Given the description of an element on the screen output the (x, y) to click on. 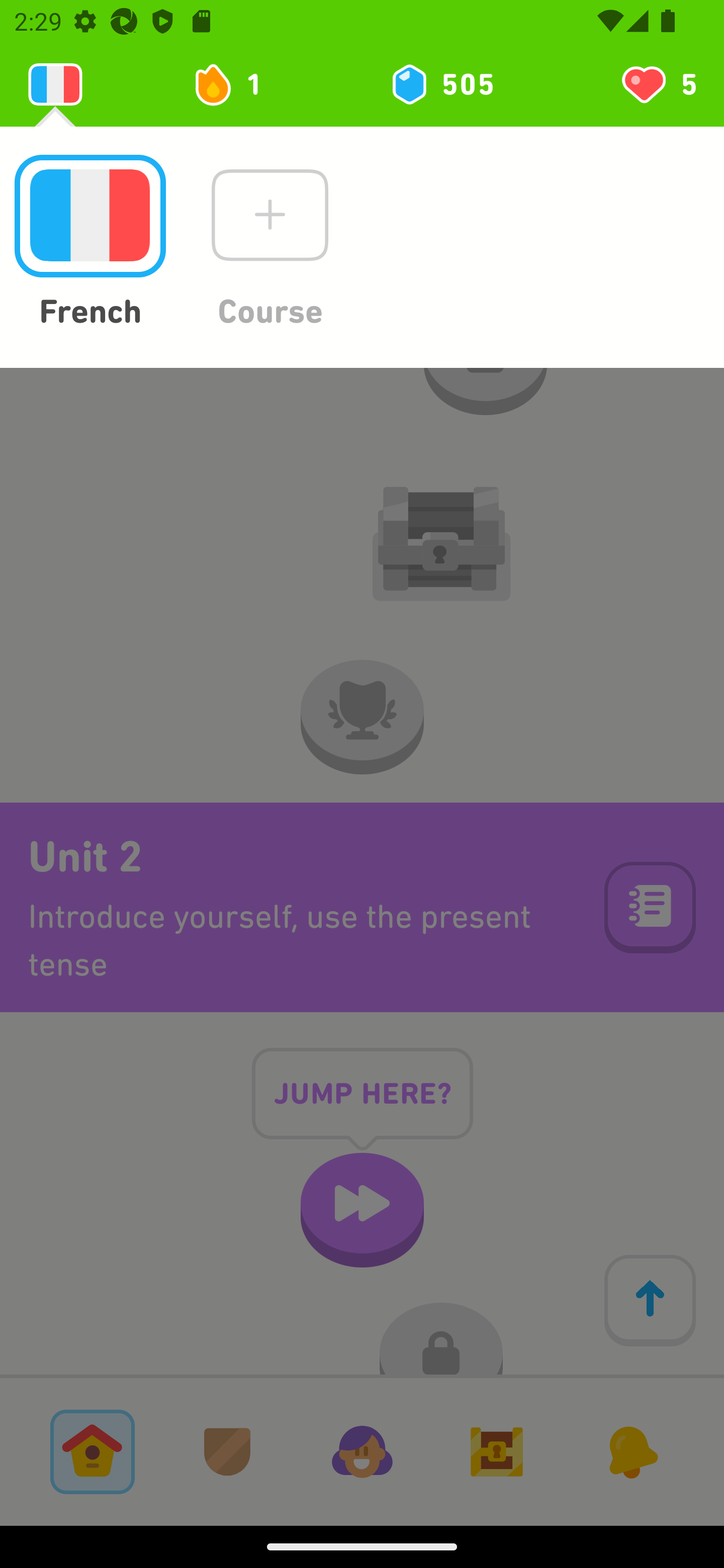
Learning 2131888976 (55, 84)
1 day streak 1 (236, 84)
505 (441, 84)
You have 5 hearts left 5 (657, 84)
French (89, 242)
Course (270, 242)
